Given the description of an element on the screen output the (x, y) to click on. 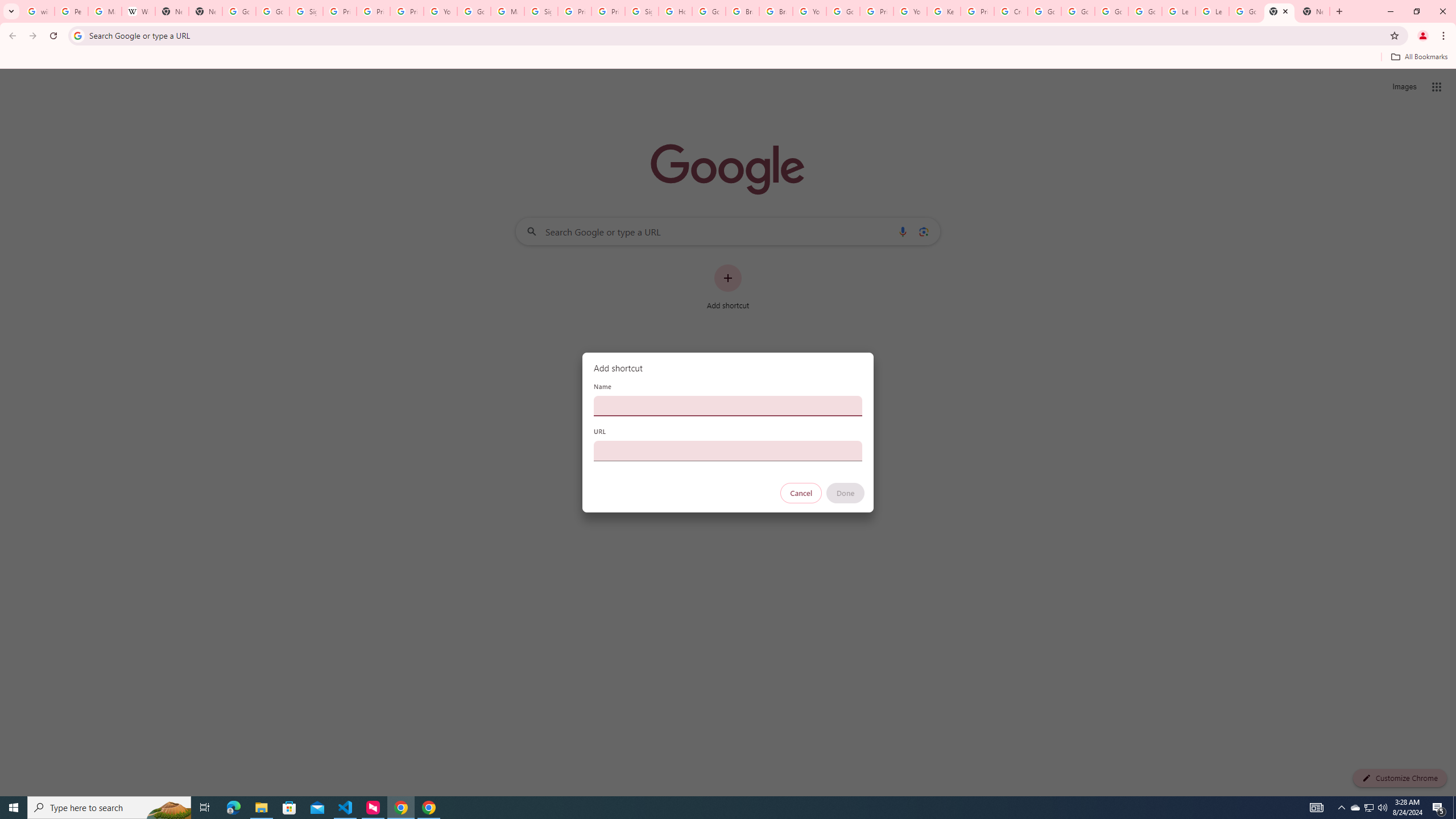
Google Account Help (474, 11)
Name (727, 405)
New Tab (1313, 11)
Create your Google Account (1010, 11)
Bookmarks (728, 58)
